Given the description of an element on the screen output the (x, y) to click on. 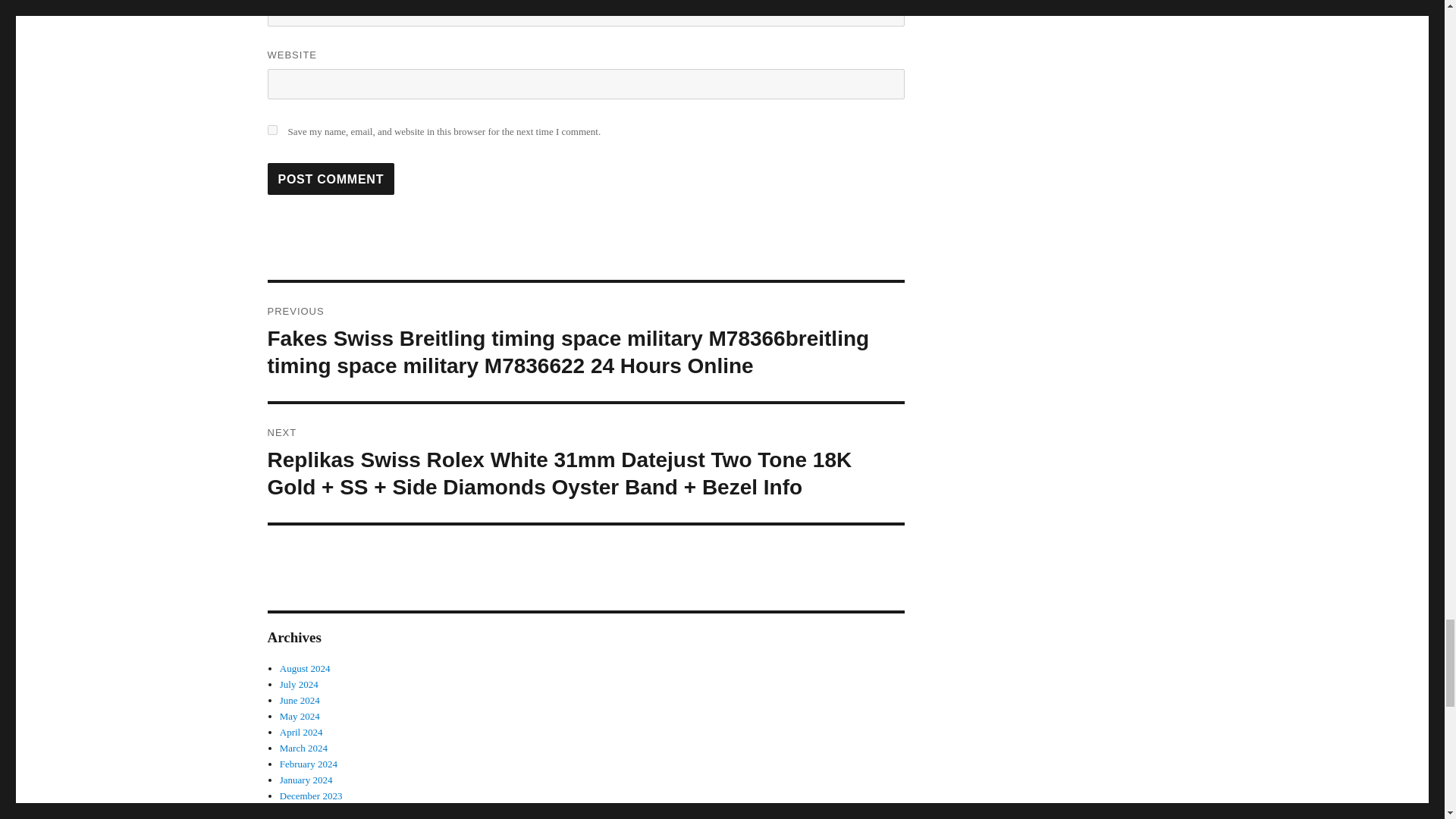
November 2023 (311, 811)
July 2024 (298, 684)
January 2024 (306, 779)
May 2024 (299, 715)
yes (271, 130)
December 2023 (310, 795)
Post Comment (330, 178)
June 2024 (299, 699)
March 2024 (303, 747)
